Given the description of an element on the screen output the (x, y) to click on. 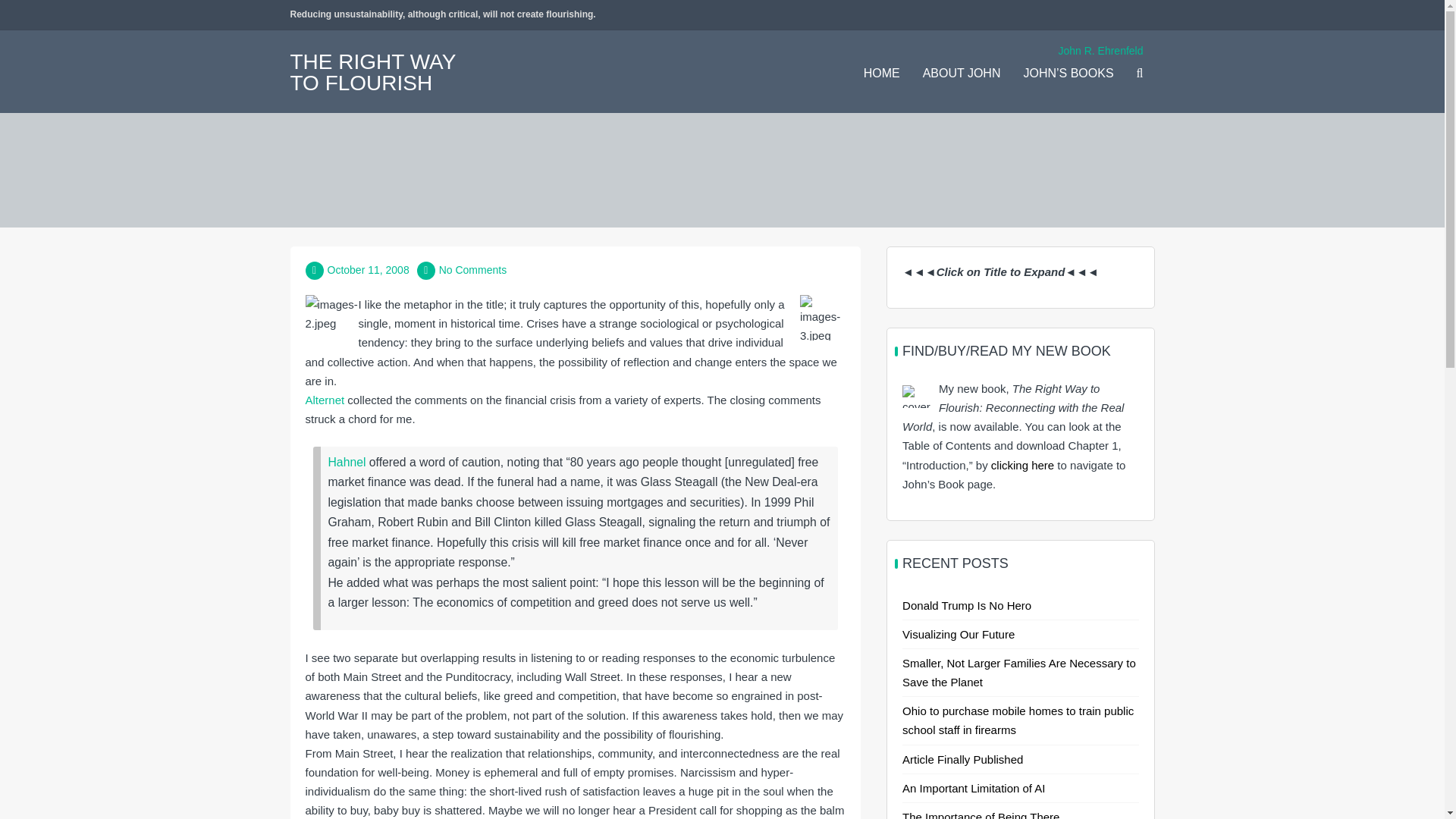
No Comments (472, 269)
Hahnel (346, 461)
Donald Trump Is No Hero (966, 604)
An Important Limitation of AI (973, 788)
ABOUT JOHN (961, 73)
October 11, 2008 (368, 269)
The Importance of Being There (980, 814)
HOME (881, 73)
